Given the description of an element on the screen output the (x, y) to click on. 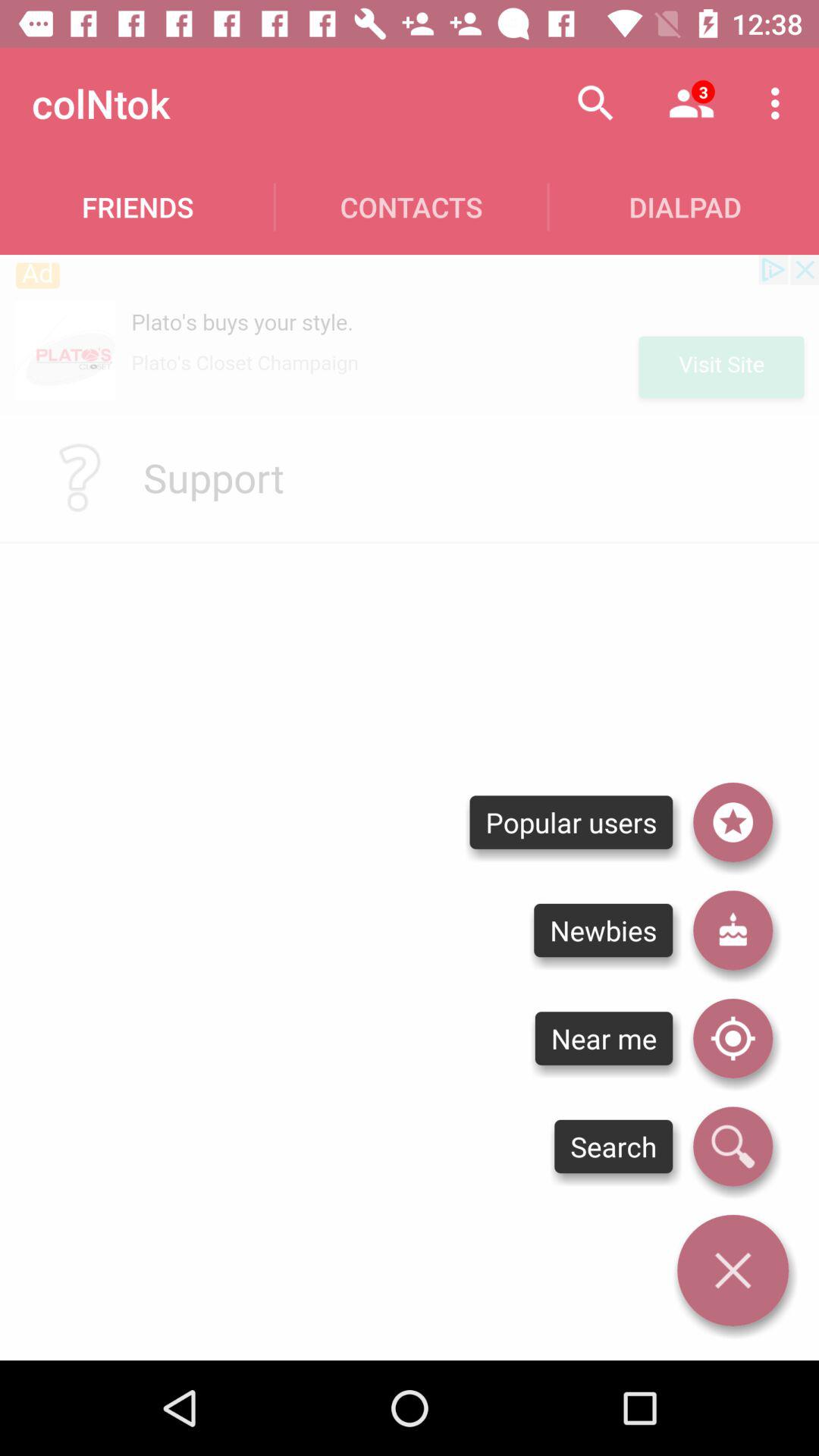
select the icon to the right of the popular users item (733, 930)
